Given the description of an element on the screen output the (x, y) to click on. 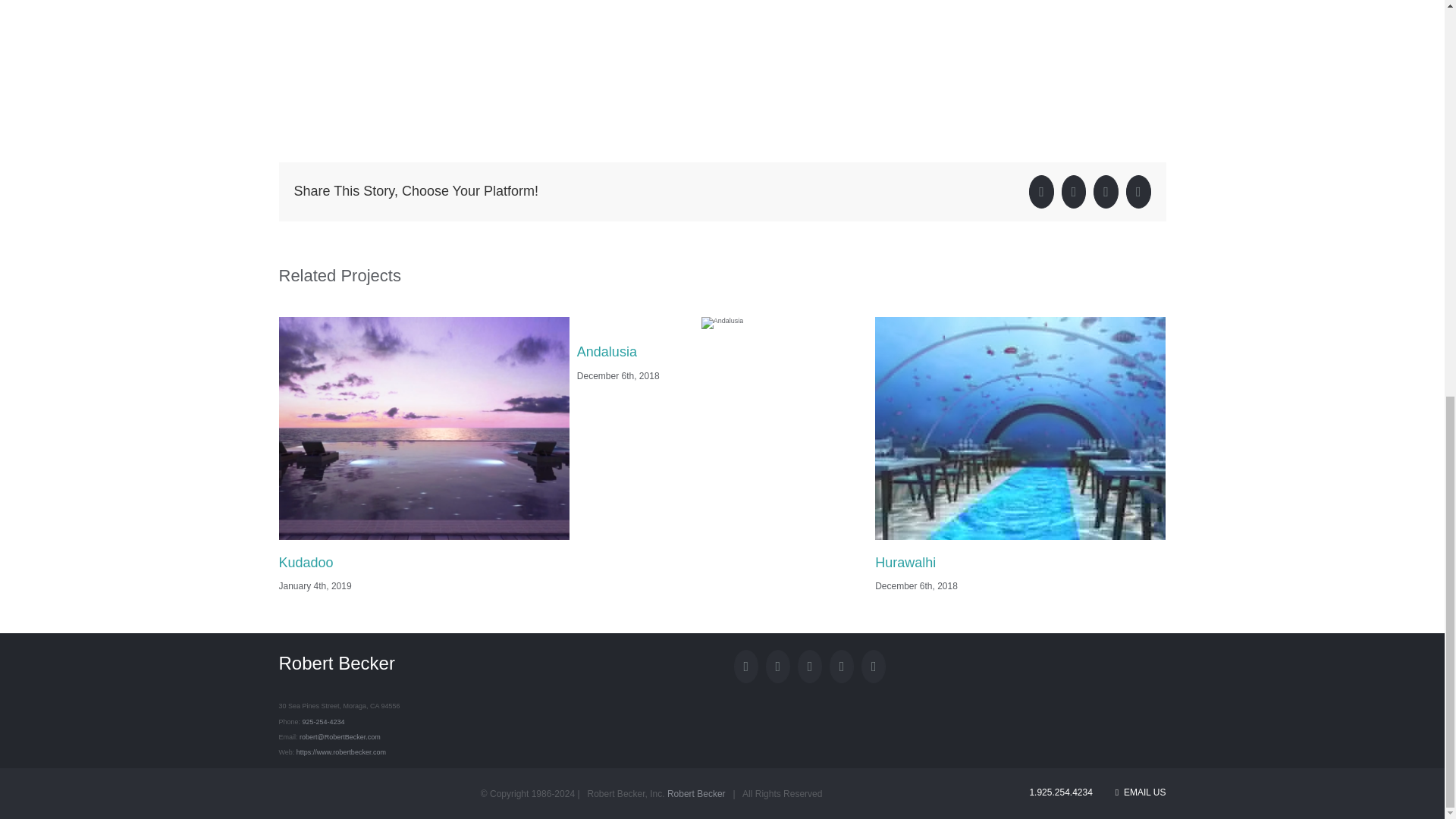
Andalusia (606, 351)
Kudadoo (306, 562)
Vimeo video player 1 (506, 237)
Hurawalhi (905, 562)
